Given the description of an element on the screen output the (x, y) to click on. 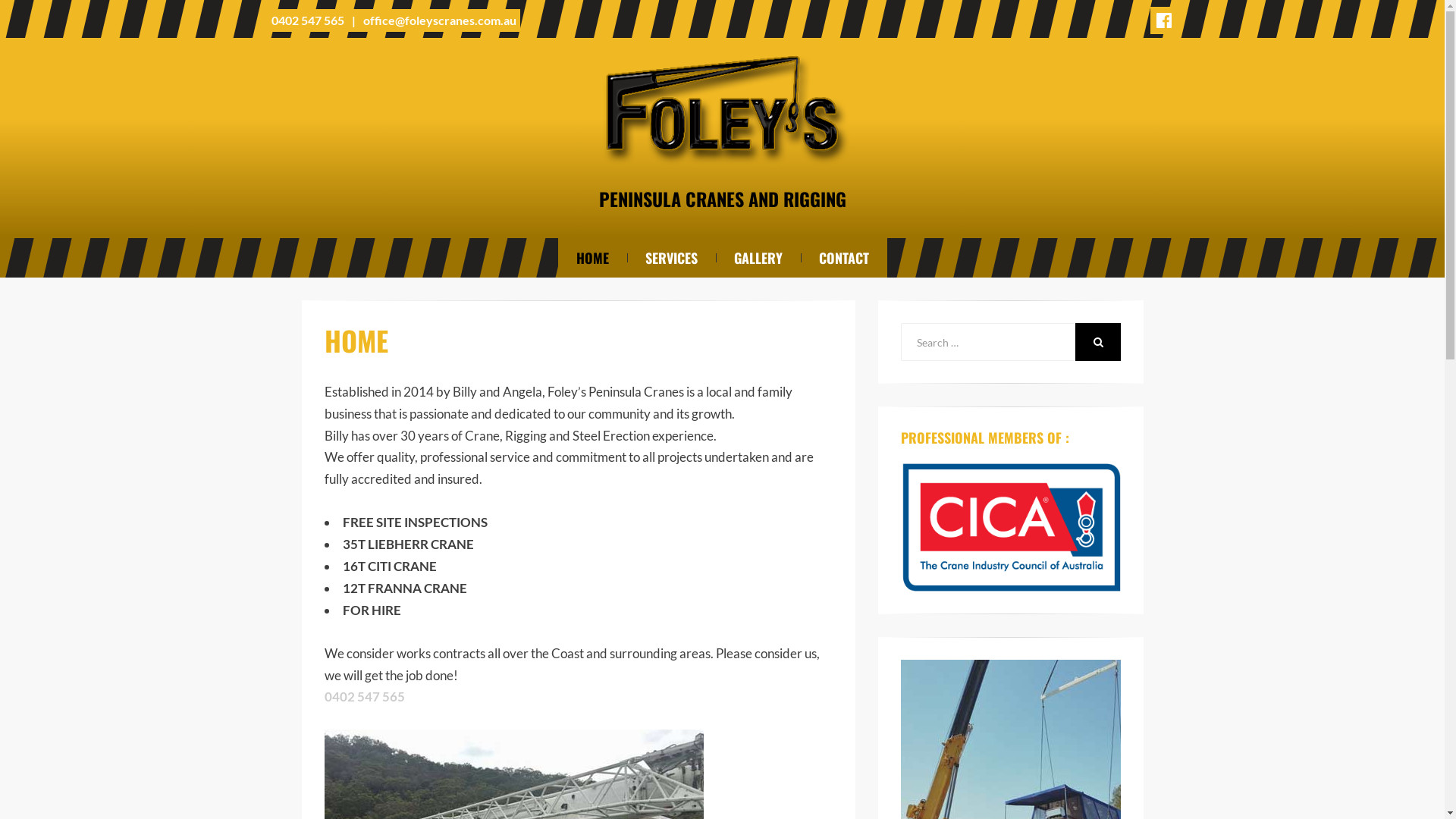
GALLERY Element type: text (757, 257)
fb_foleys Element type: hover (1162, 20)
Search for: Element type: hover (987, 341)
SERVICES Element type: text (670, 257)
0402 547 565 Element type: text (364, 696)
office@foleyscranes.com.au Element type: text (438, 19)
CONTACT Element type: text (843, 257)
HOME Element type: text (592, 257)
SEARCH Element type: text (1097, 341)
